Given the description of an element on the screen output the (x, y) to click on. 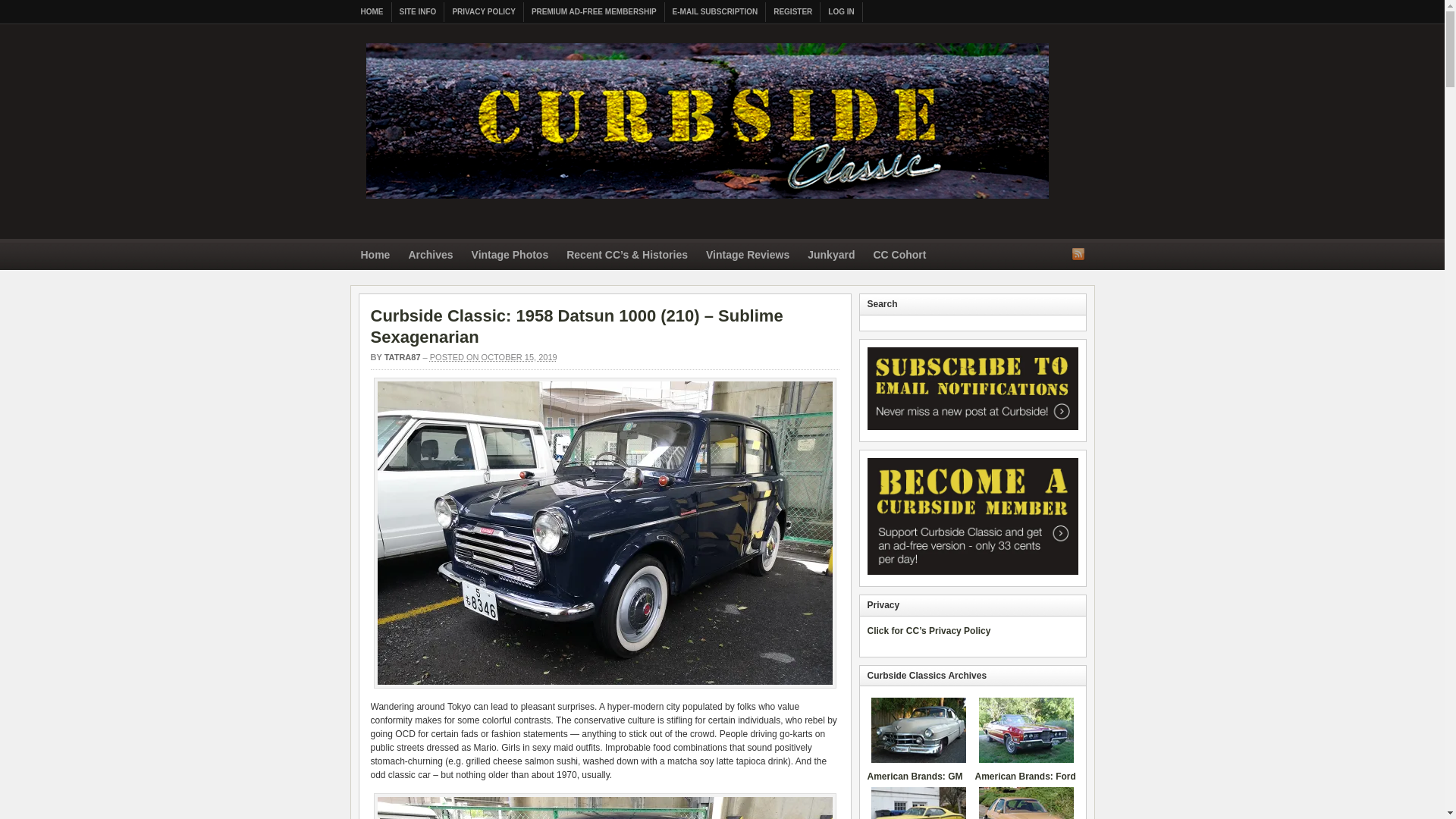
PRIVACY POLICY (484, 12)
REGISTER (793, 12)
SITE INFO (417, 12)
Curbside Classic (706, 203)
Vintage Photos (510, 256)
2019-10-15T01:00:33-07:00 (493, 356)
LOG IN (841, 12)
Tatra87 (402, 356)
HOME (372, 12)
Curbside Classic RSS Feed (1078, 253)
PREMIUM AD-FREE MEMBERSHIP (594, 12)
Home (375, 256)
Archives (429, 256)
E-MAIL SUBSCRIPTION (716, 12)
